Given the description of an element on the screen output the (x, y) to click on. 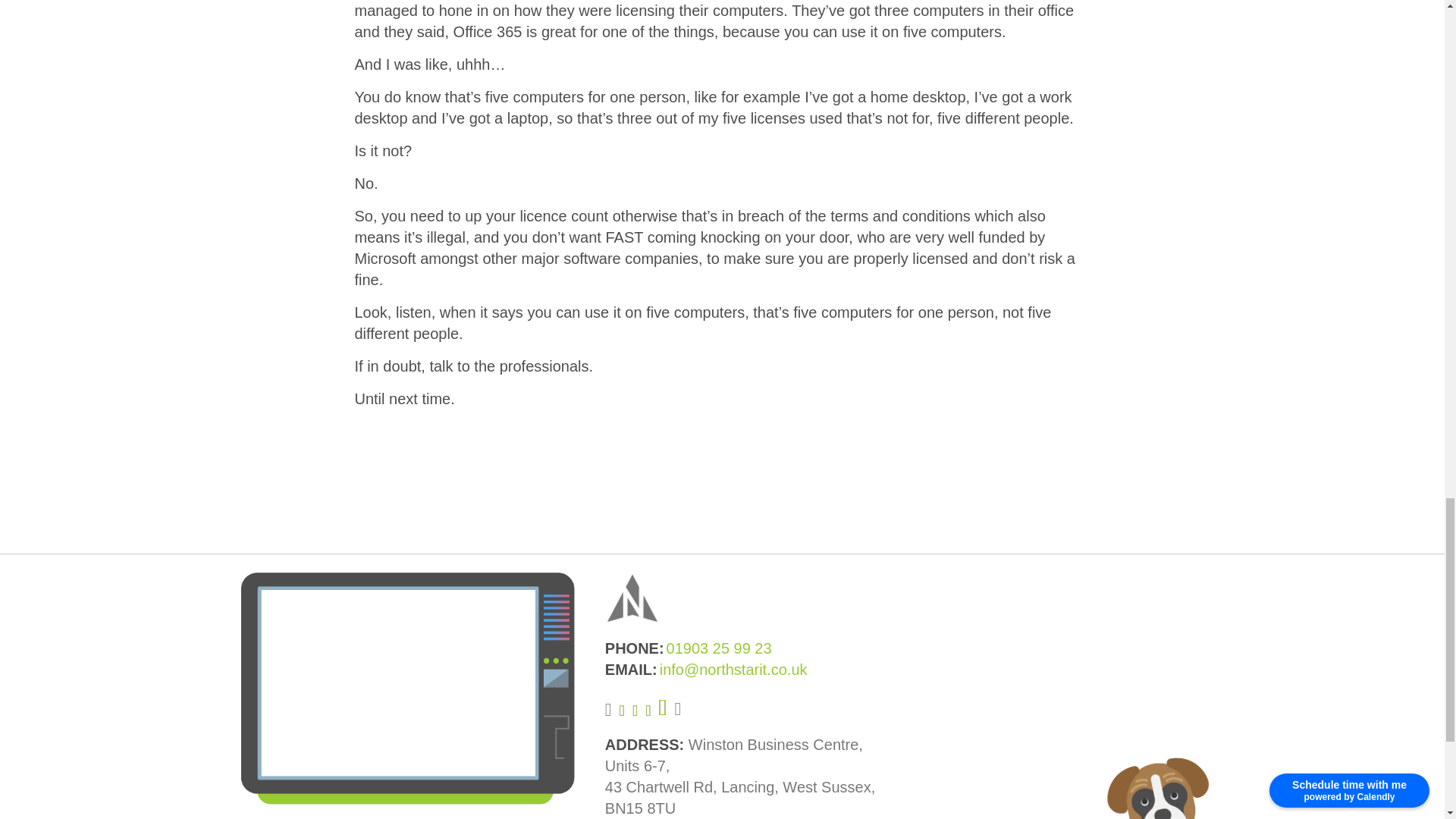
01903 25 99 23 (718, 648)
